Given the description of an element on the screen output the (x, y) to click on. 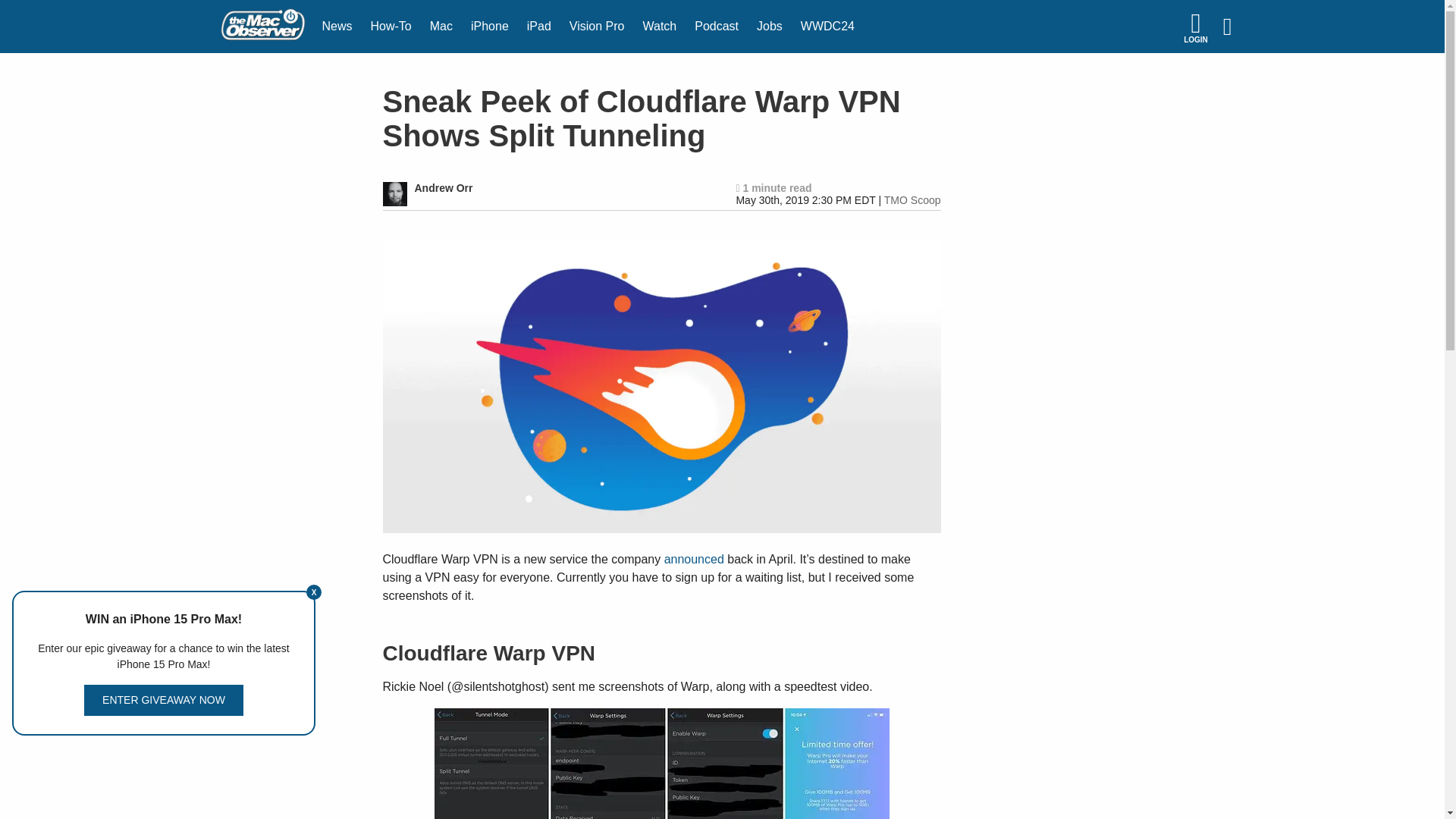
Vision Pro (596, 26)
WWDC24 (827, 26)
Watch (659, 26)
iPhone (489, 26)
The Mac Observer (262, 26)
iPhone (489, 26)
WWDC24 (827, 26)
Podcast (716, 26)
Vision Pro (596, 26)
How-To (390, 26)
announced (693, 558)
News (337, 26)
News (337, 26)
Watch (659, 26)
How-To (390, 26)
